Given the description of an element on the screen output the (x, y) to click on. 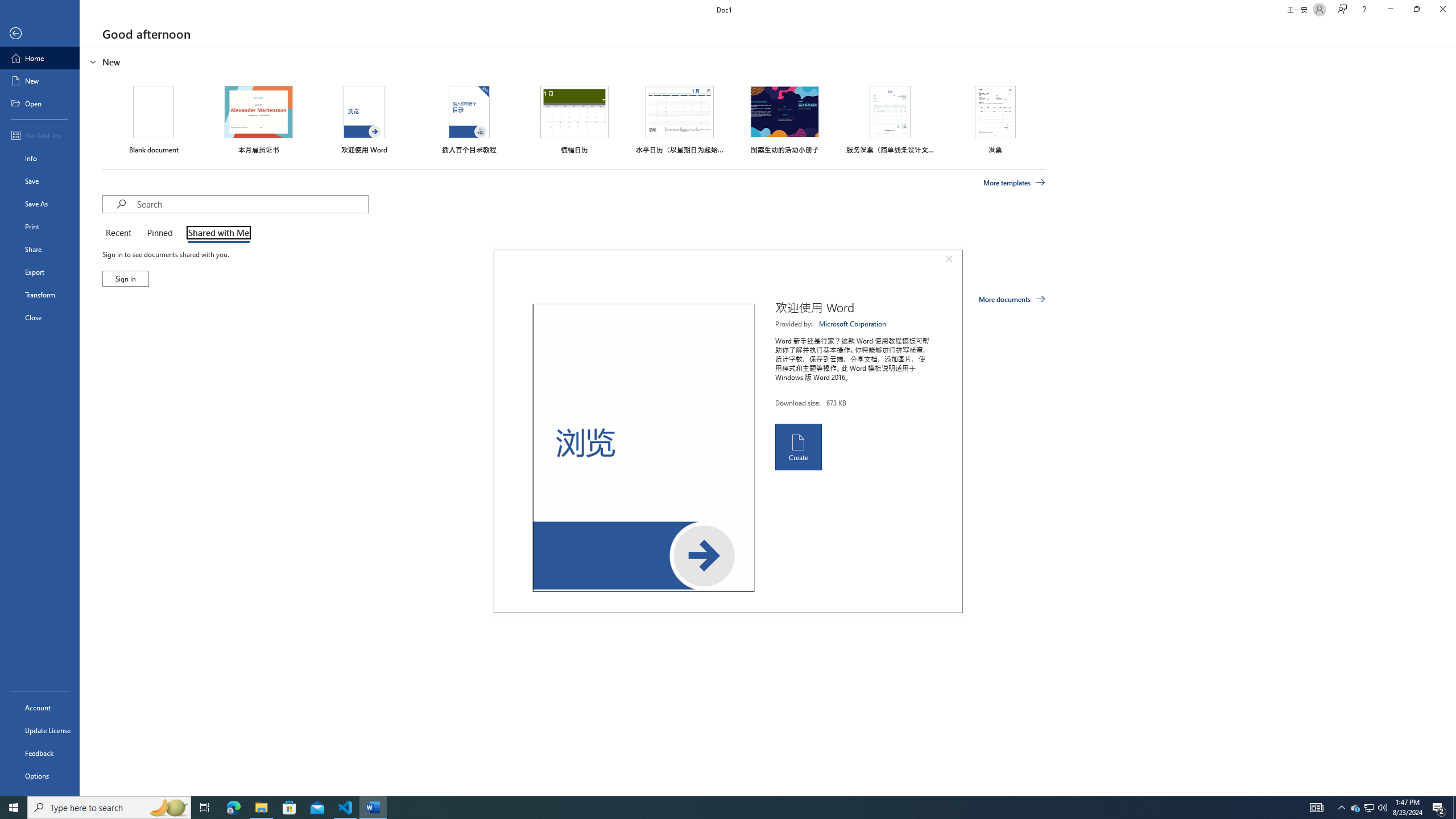
Class: NetUIScrollBar (1450, 421)
Update License (40, 730)
Recent (119, 233)
Shared with Me (215, 233)
Hide or show region (92, 61)
Preview (643, 447)
Feedback (40, 753)
Options (40, 775)
Account (40, 707)
